Given the description of an element on the screen output the (x, y) to click on. 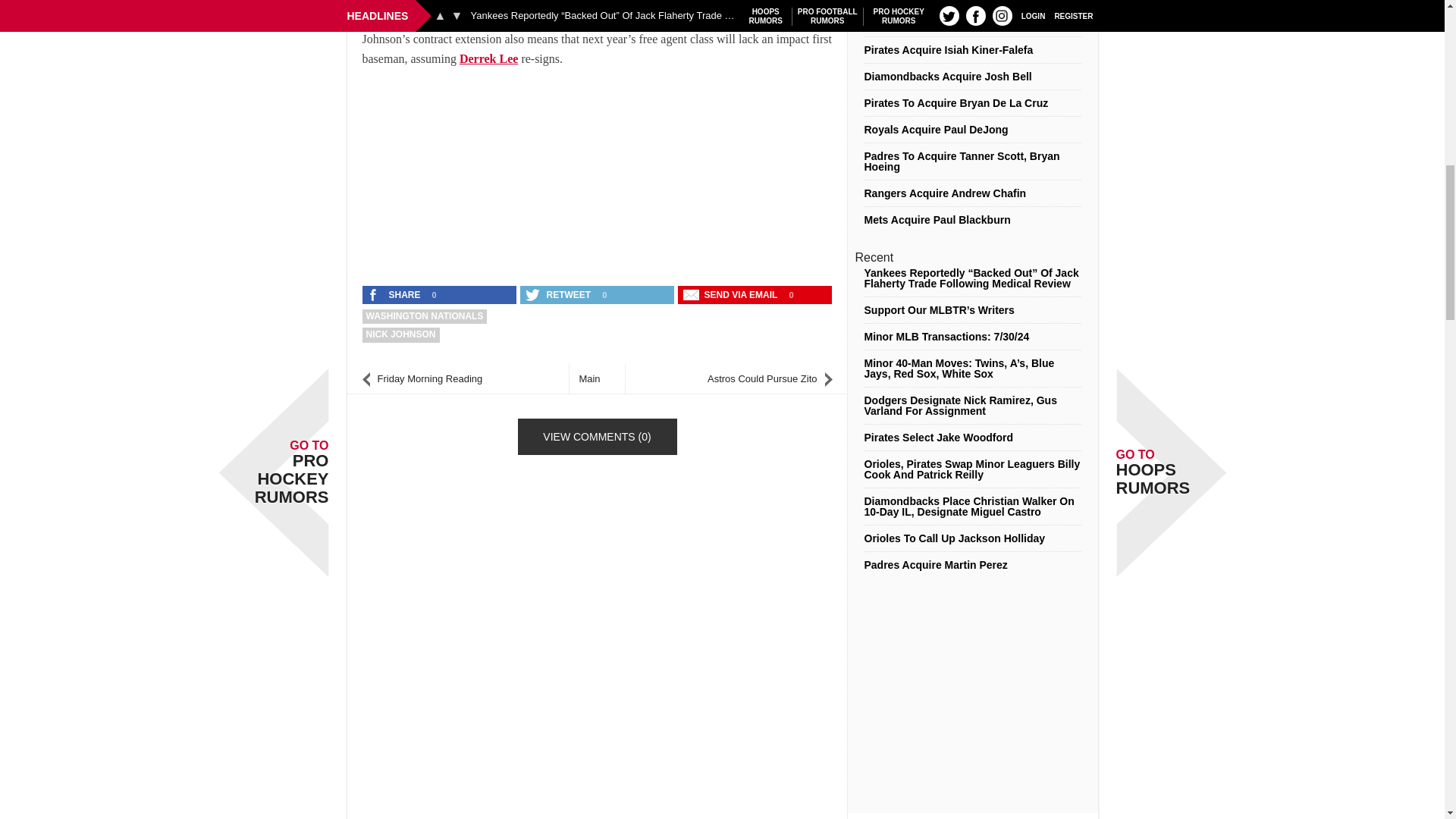
Send Nick Johnson Signs Extension with an email (732, 294)
Share 'Nick Johnson Signs Extension' on Facebook (395, 294)
Retweet 'Nick Johnson Signs Extension' on Twitter (558, 294)
